Given the description of an element on the screen output the (x, y) to click on. 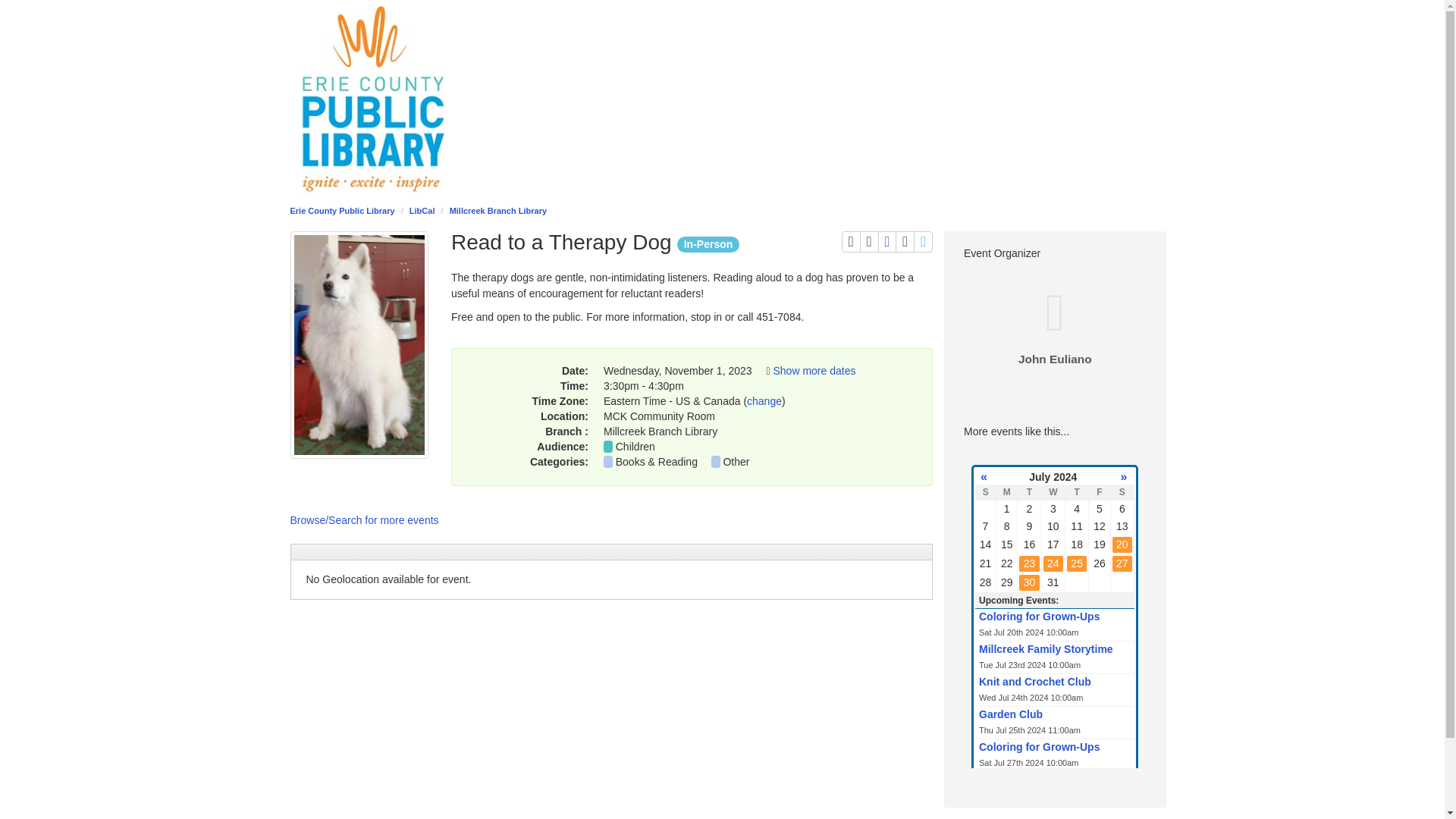
LibCal (422, 210)
change (886, 241)
Show more dates (763, 400)
Erie County Public Library LibCal (814, 370)
Millcreek Branch Library (923, 241)
Children (850, 241)
Add to a Calendar using iCal (498, 210)
Erie County Public Library (635, 446)
Other (904, 241)
